Given the description of an element on the screen output the (x, y) to click on. 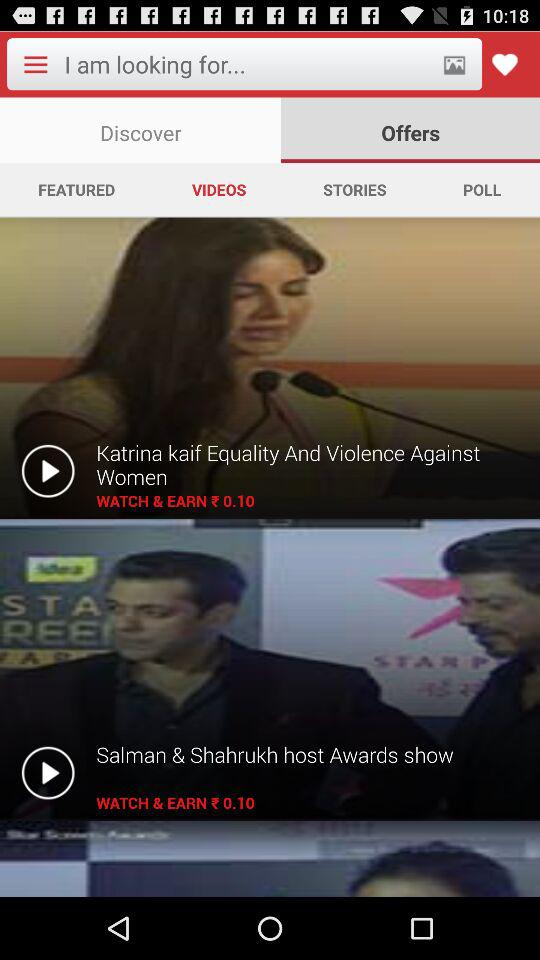
toggle menu (35, 64)
